Given the description of an element on the screen output the (x, y) to click on. 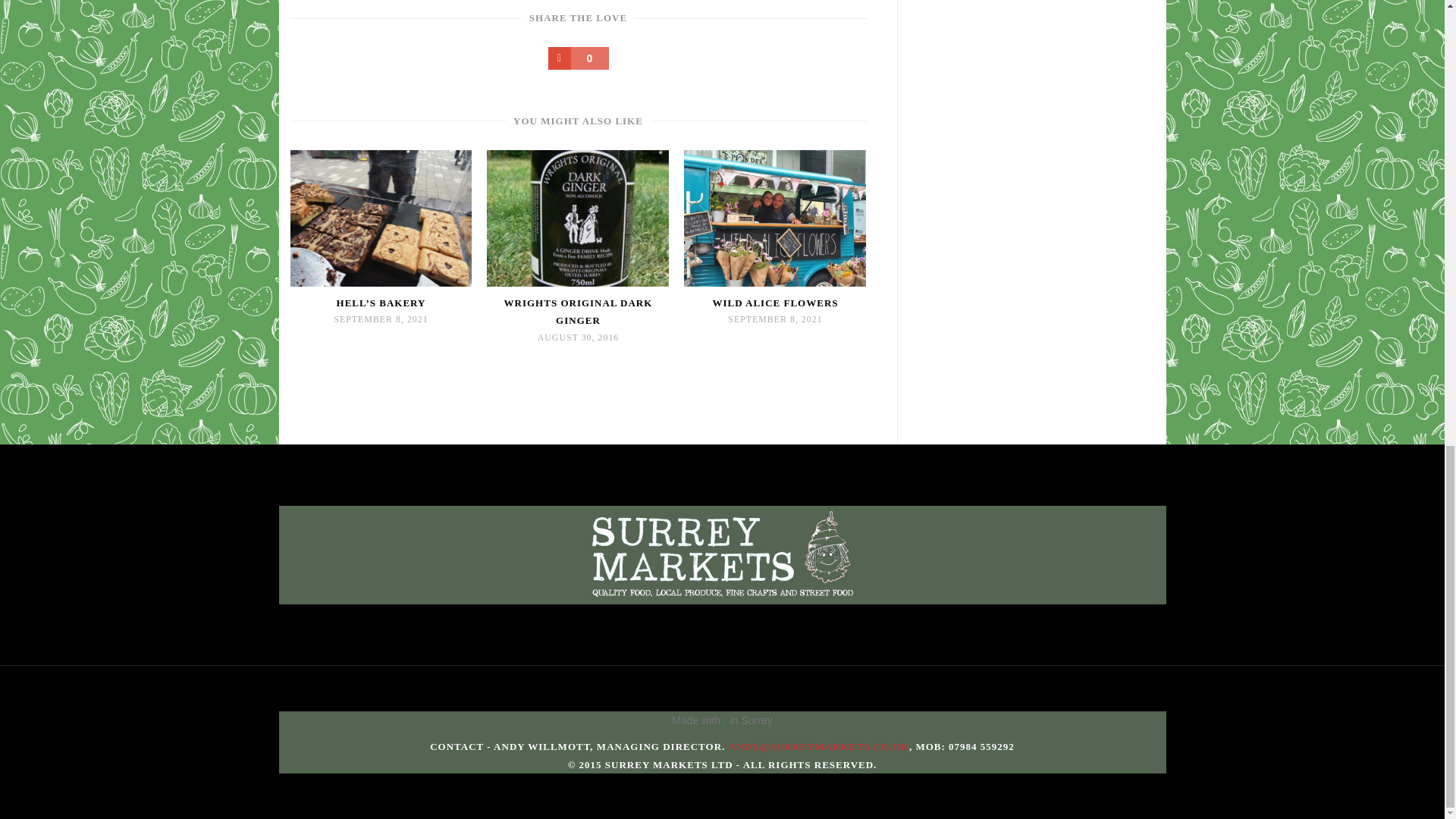
WRIGHTS ORIGINAL DARK GINGER (577, 312)
WILD ALICE FLOWERS (775, 303)
0 (577, 57)
